Given the description of an element on the screen output the (x, y) to click on. 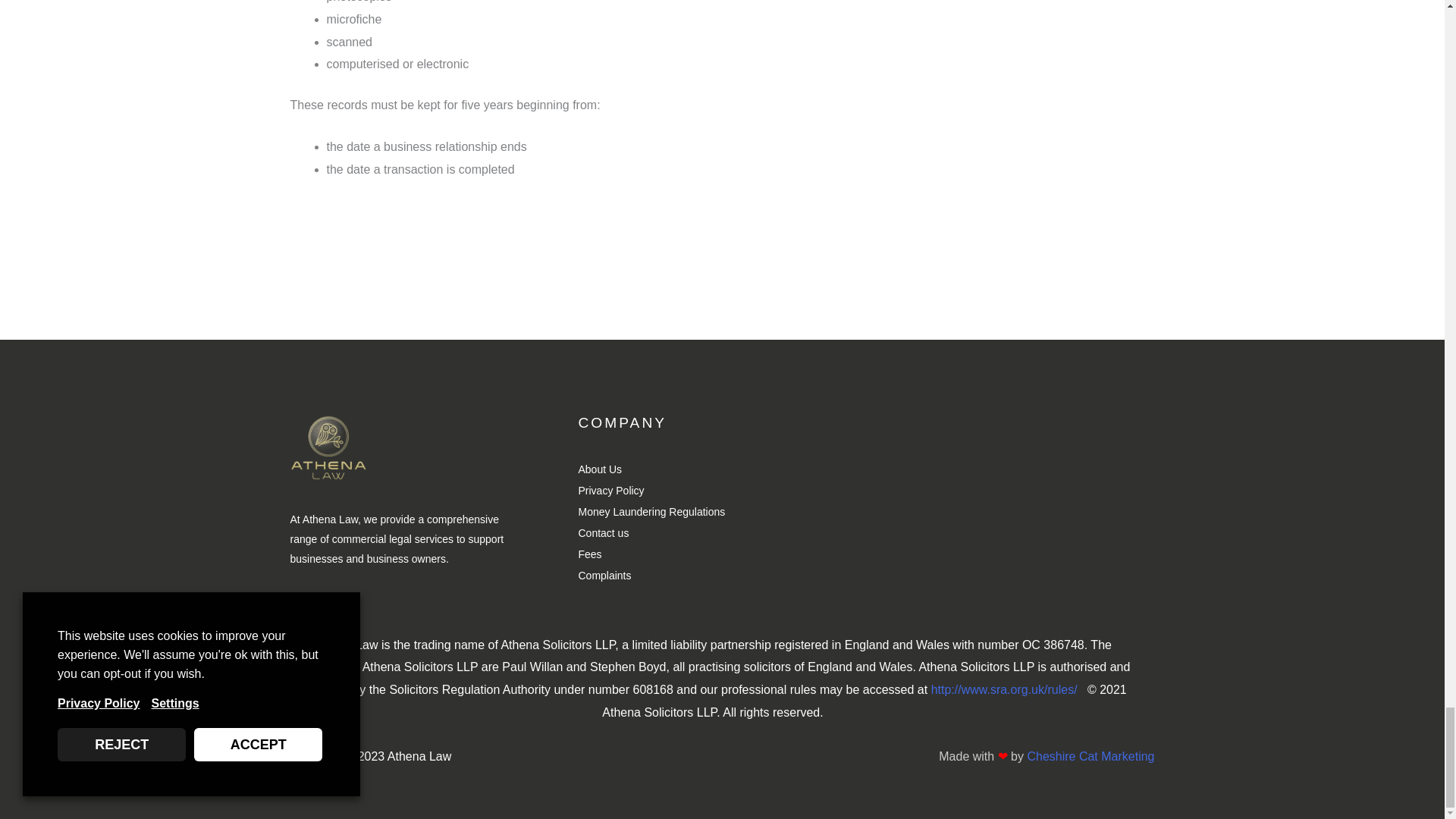
Complaints (722, 576)
Privacy Policy (722, 491)
Fees (722, 555)
Cheshire Cat Marketing (1090, 756)
About Us (722, 469)
Contact us (722, 533)
Money Laundering Regulations (722, 512)
